Given the description of an element on the screen output the (x, y) to click on. 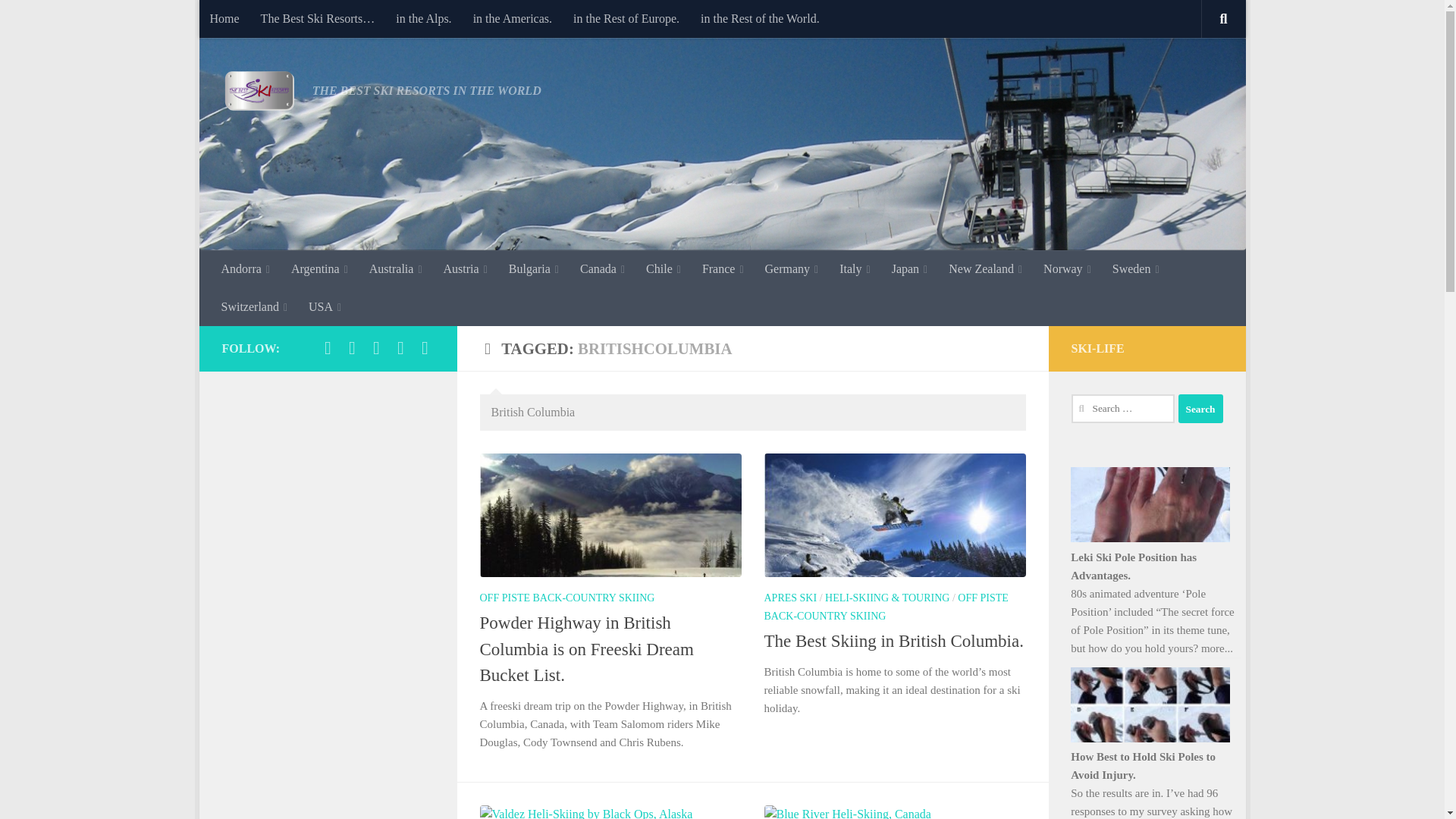
Follow us on Youtube (423, 348)
Leki Ski Pole Position has Advantages. (1150, 504)
Search (1200, 408)
Follow us on Instagram (375, 348)
Follow us on Twitter (351, 348)
Follow us on Linkedin (400, 348)
Follow us on Facebook (327, 348)
Search (1200, 408)
Skip to content (258, 20)
